Given the description of an element on the screen output the (x, y) to click on. 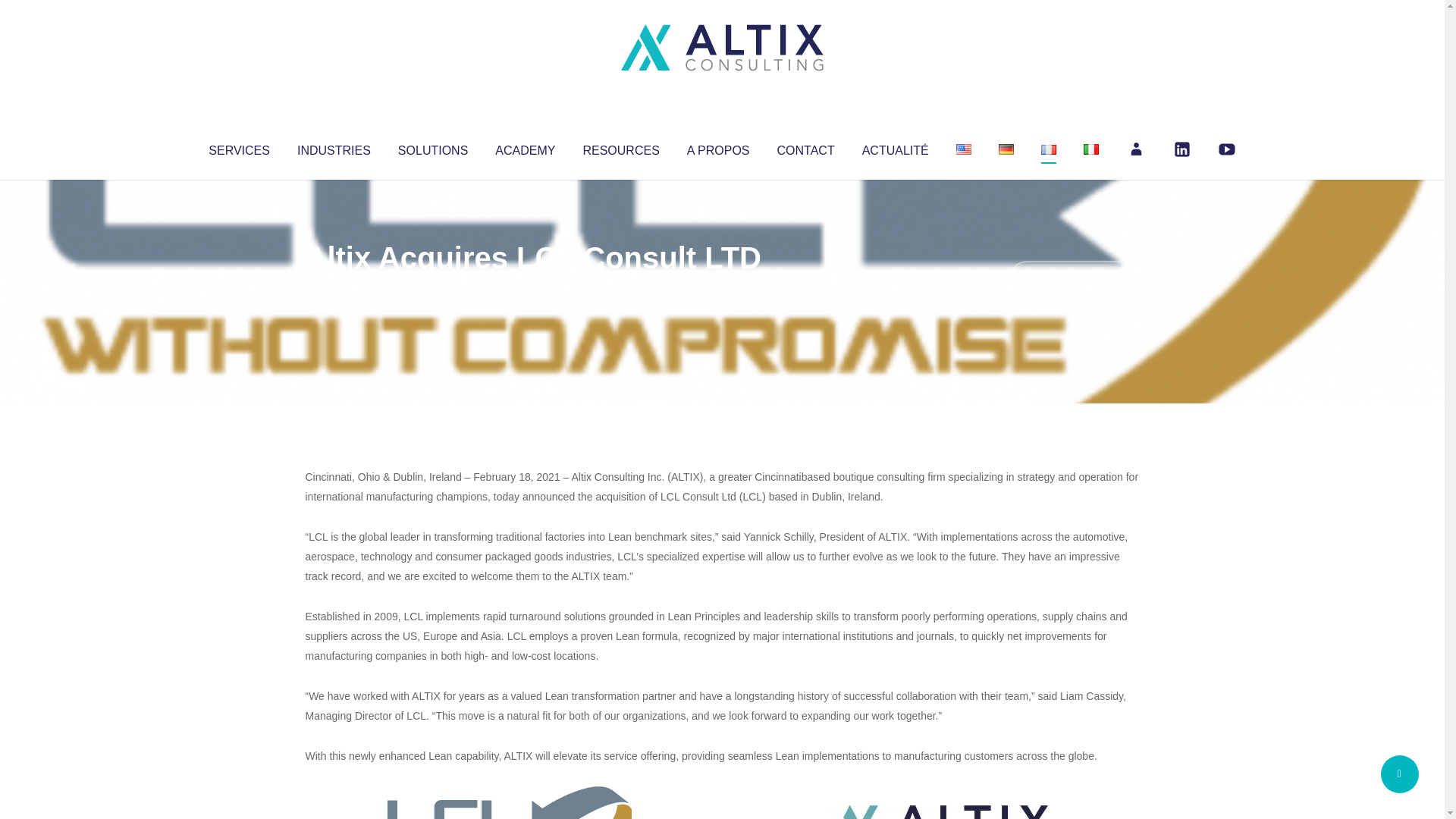
SERVICES (238, 146)
RESOURCES (620, 146)
ACADEMY (524, 146)
INDUSTRIES (334, 146)
No Comments (1073, 278)
A PROPOS (718, 146)
Altix (333, 287)
SOLUTIONS (432, 146)
Articles par Altix (333, 287)
Uncategorized (530, 287)
